Given the description of an element on the screen output the (x, y) to click on. 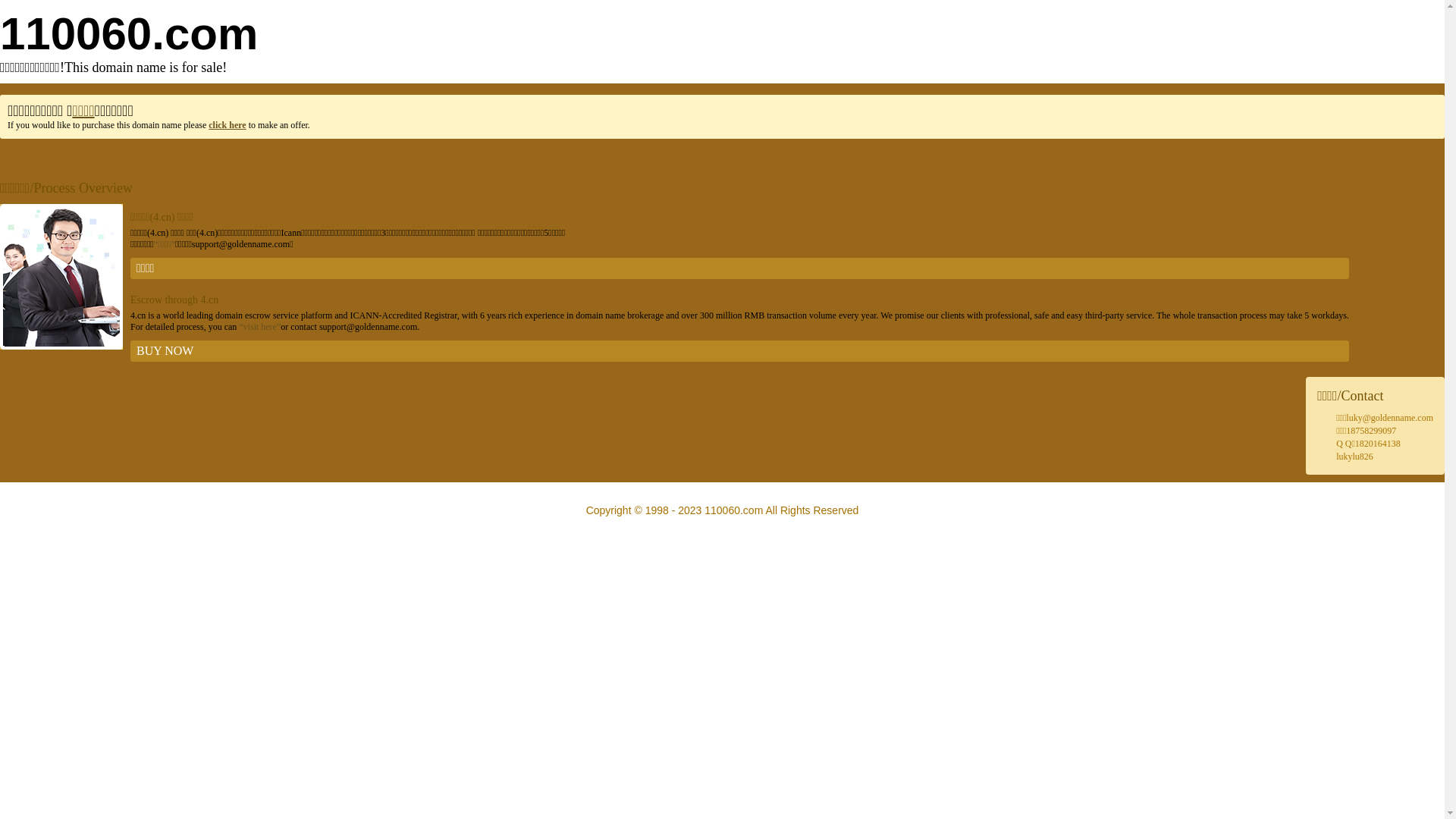
BUY NOW Element type: text (739, 350)
click here Element type: text (226, 124)
